Given the description of an element on the screen output the (x, y) to click on. 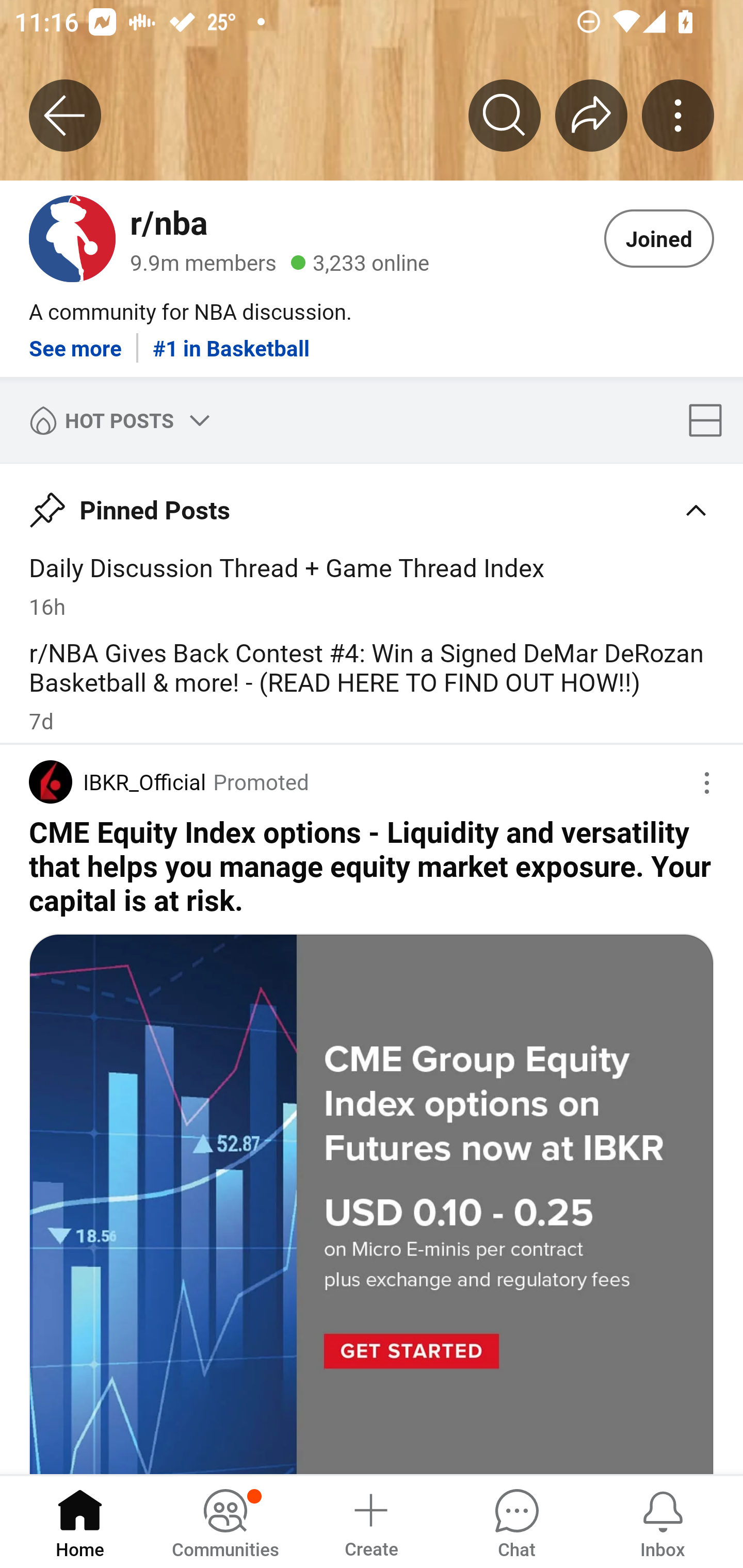
Back (64, 115)
Search r/﻿nba (504, 115)
Share r/﻿nba (591, 115)
More community actions (677, 115)
See more (74, 340)
#1 in Basketball (231, 340)
HOT POSTS Sort by Hot posts (115, 420)
Card display (711, 420)
Pin Pinned Posts Caret (371, 503)
Daily Discussion Thread + Game Thread Index 16h (371, 585)
Author IBKR_Official (116, 781)
Image (371, 1202)
Home (80, 1520)
Communities, has notifications Communities (225, 1520)
Create a post Create (370, 1520)
Chat (516, 1520)
Inbox (662, 1520)
